Given the description of an element on the screen output the (x, y) to click on. 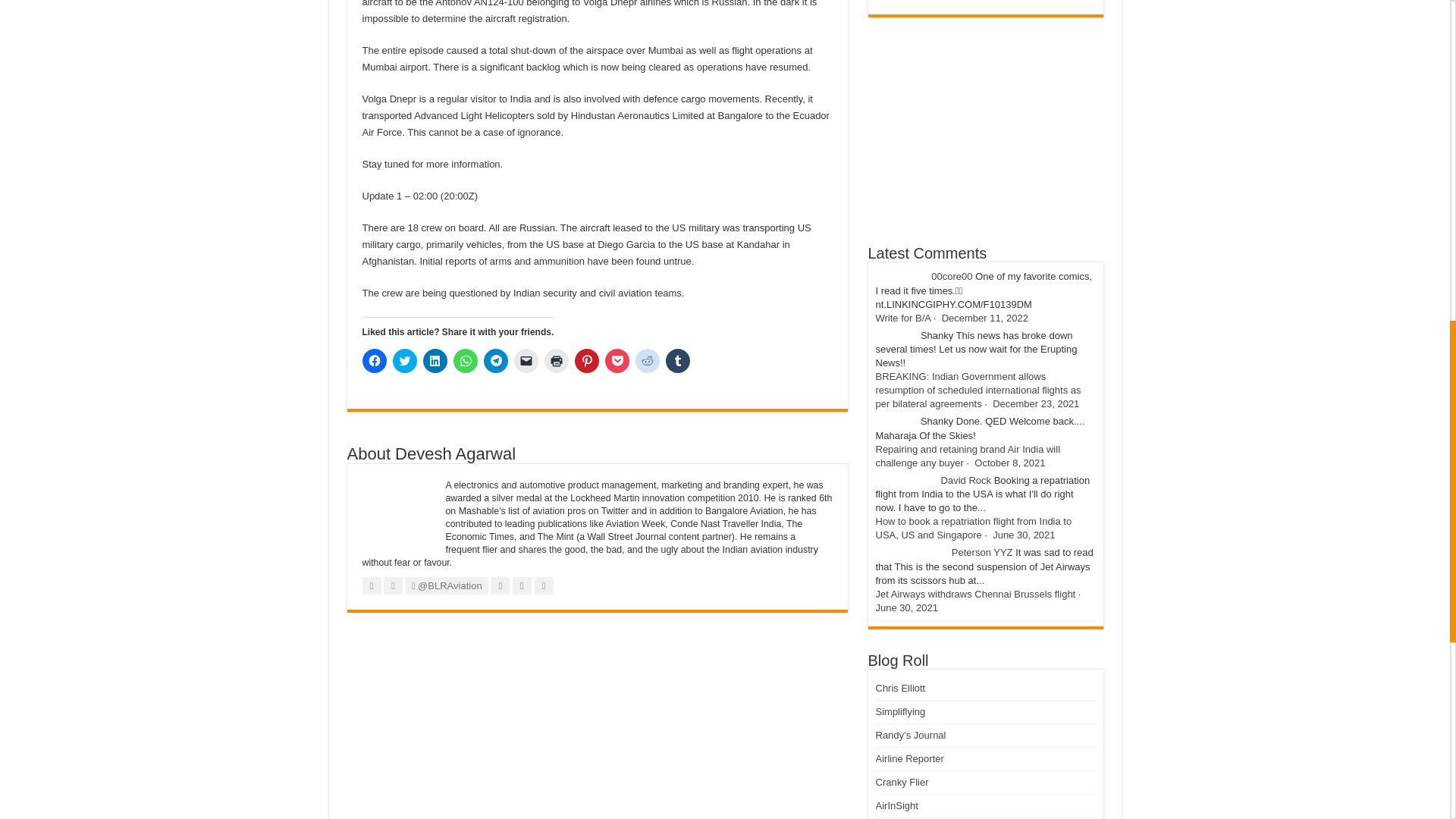
Click to share on LinkedIn (434, 360)
Click to share on Pocket (616, 360)
Click to share on Twitter (404, 360)
Click to share on Facebook (374, 360)
Click to share on Pinterest (586, 360)
Click to share on Reddit (646, 360)
Click to print (556, 360)
Click to share on WhatsApp (464, 360)
Click to share on Telegram (495, 360)
Click to email a link to a friend (525, 360)
